Given the description of an element on the screen output the (x, y) to click on. 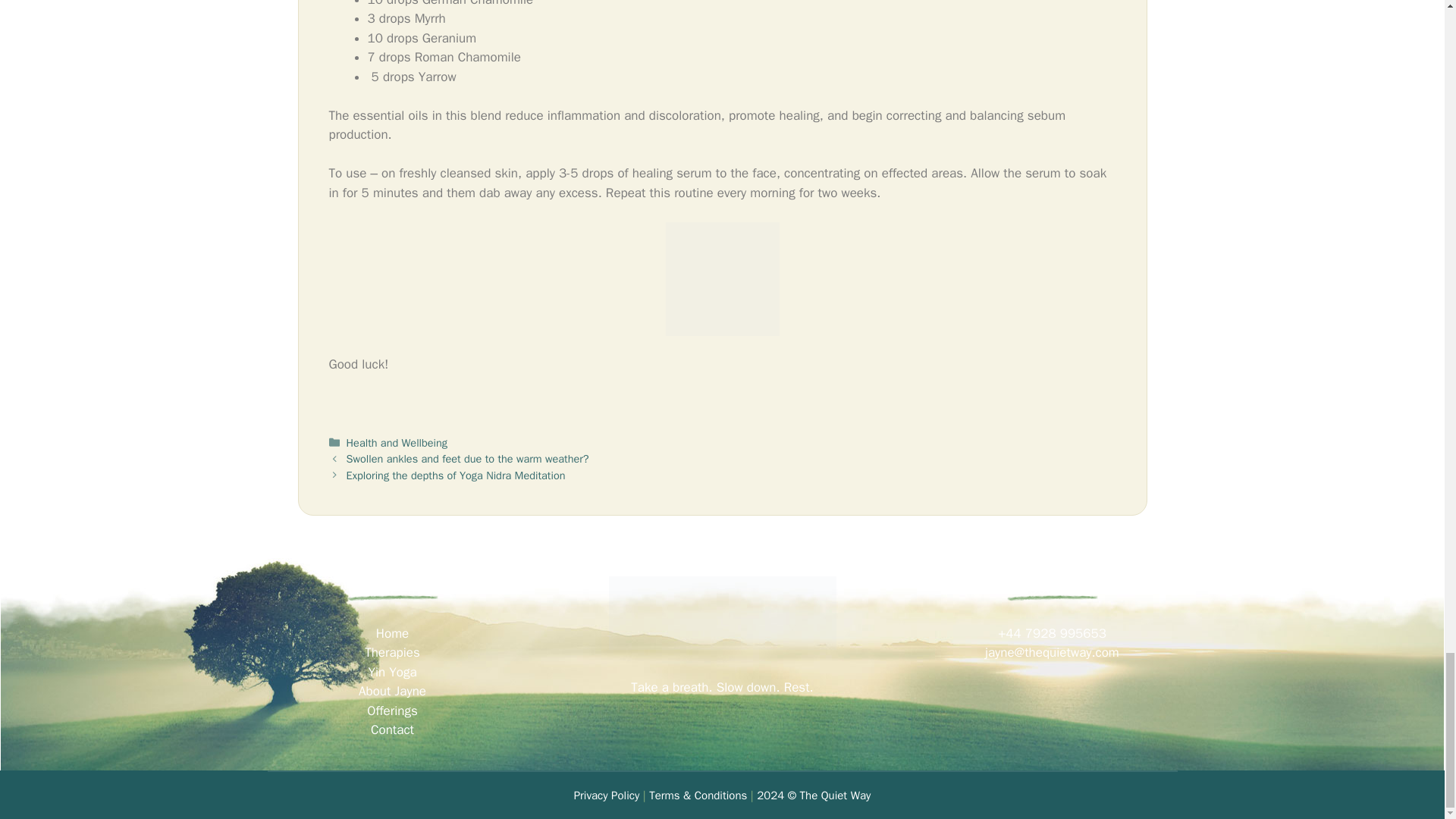
About Jayne (392, 691)
Yin Yoga (392, 672)
Therapies (392, 652)
Privacy Policy (606, 795)
Offerings (391, 710)
Swollen ankles and feet due to the warm weather? (467, 459)
Contact (392, 729)
Health and Wellbeing (396, 442)
Home (392, 633)
Exploring the depths of Yoga Nidra Meditation (456, 475)
